Given the description of an element on the screen output the (x, y) to click on. 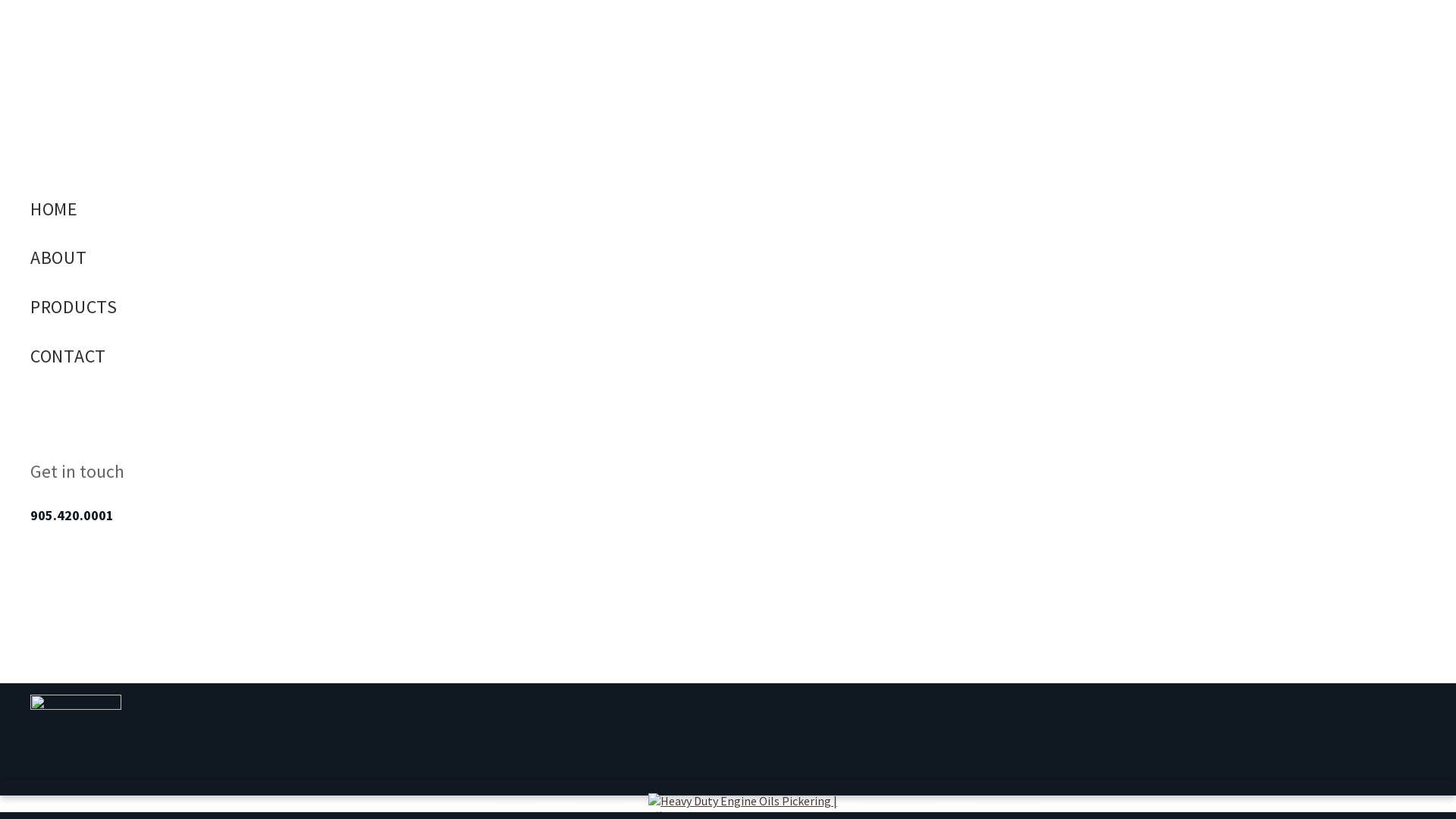
HOME Element type: text (386, 208)
CONTACT Element type: text (386, 355)
ABOUT Element type: text (386, 257)
PRODUCTS Element type: text (386, 306)
905.420.0001 Element type: text (71, 515)
